Given the description of an element on the screen output the (x, y) to click on. 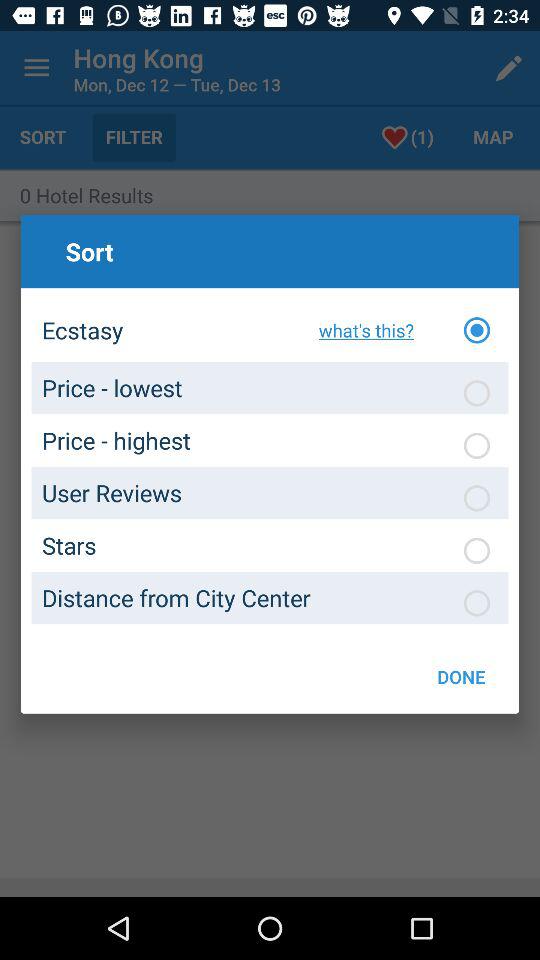
click icon above the distance from city icon (360, 330)
